Given the description of an element on the screen output the (x, y) to click on. 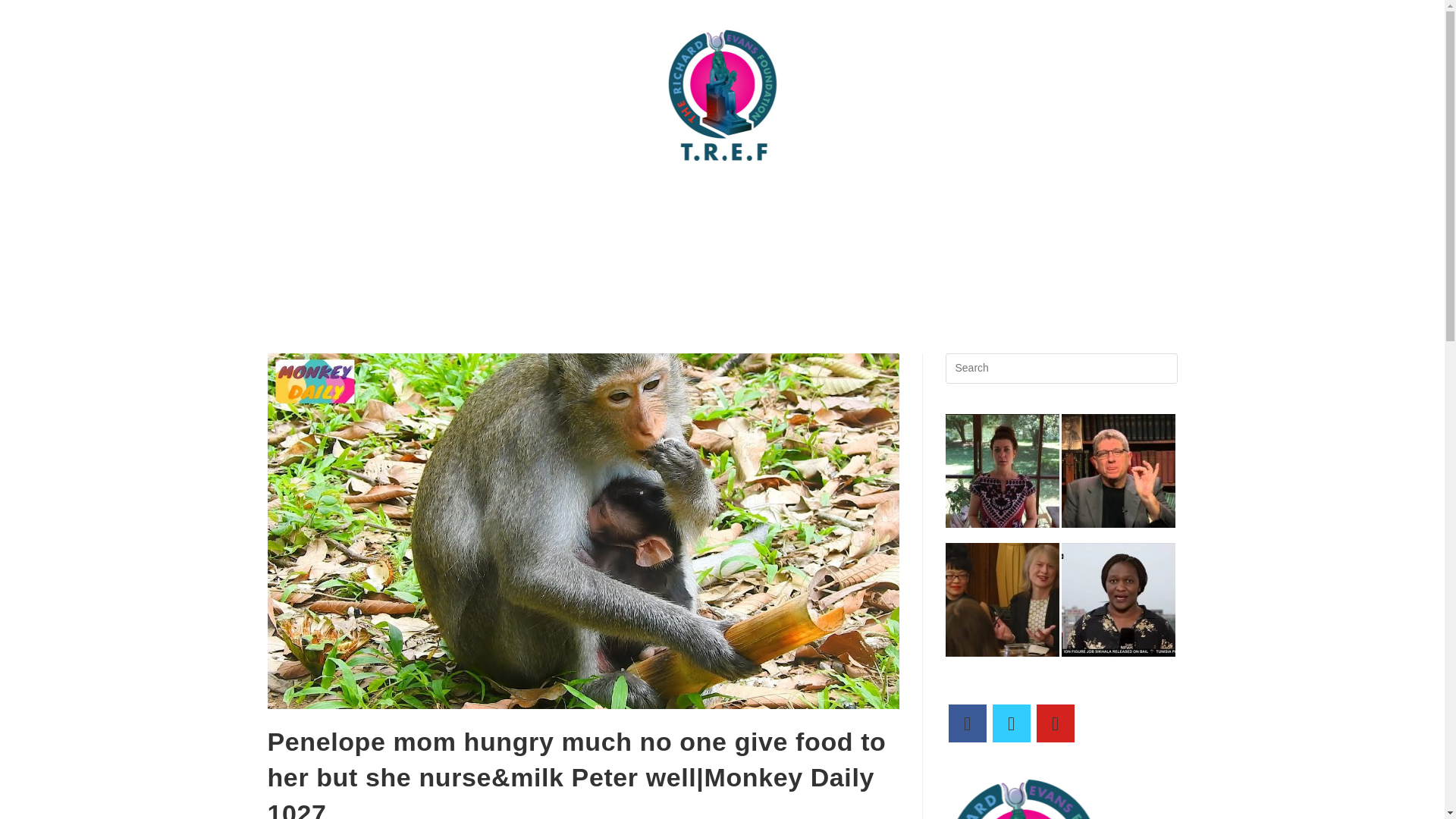
Caring (1106, 200)
Sex Trafficking (920, 235)
Homelessness (807, 235)
Breast Cancer Research Foundation (782, 200)
Home (334, 200)
The Bill and Melinda Gates (988, 200)
CONTACT US OR DONATE TODAY: (476, 200)
Single Mothers (1030, 235)
Christian charities (543, 235)
Articles (627, 200)
Charity Concerts (419, 235)
Giving Food Hungry (678, 235)
